Given the description of an element on the screen output the (x, y) to click on. 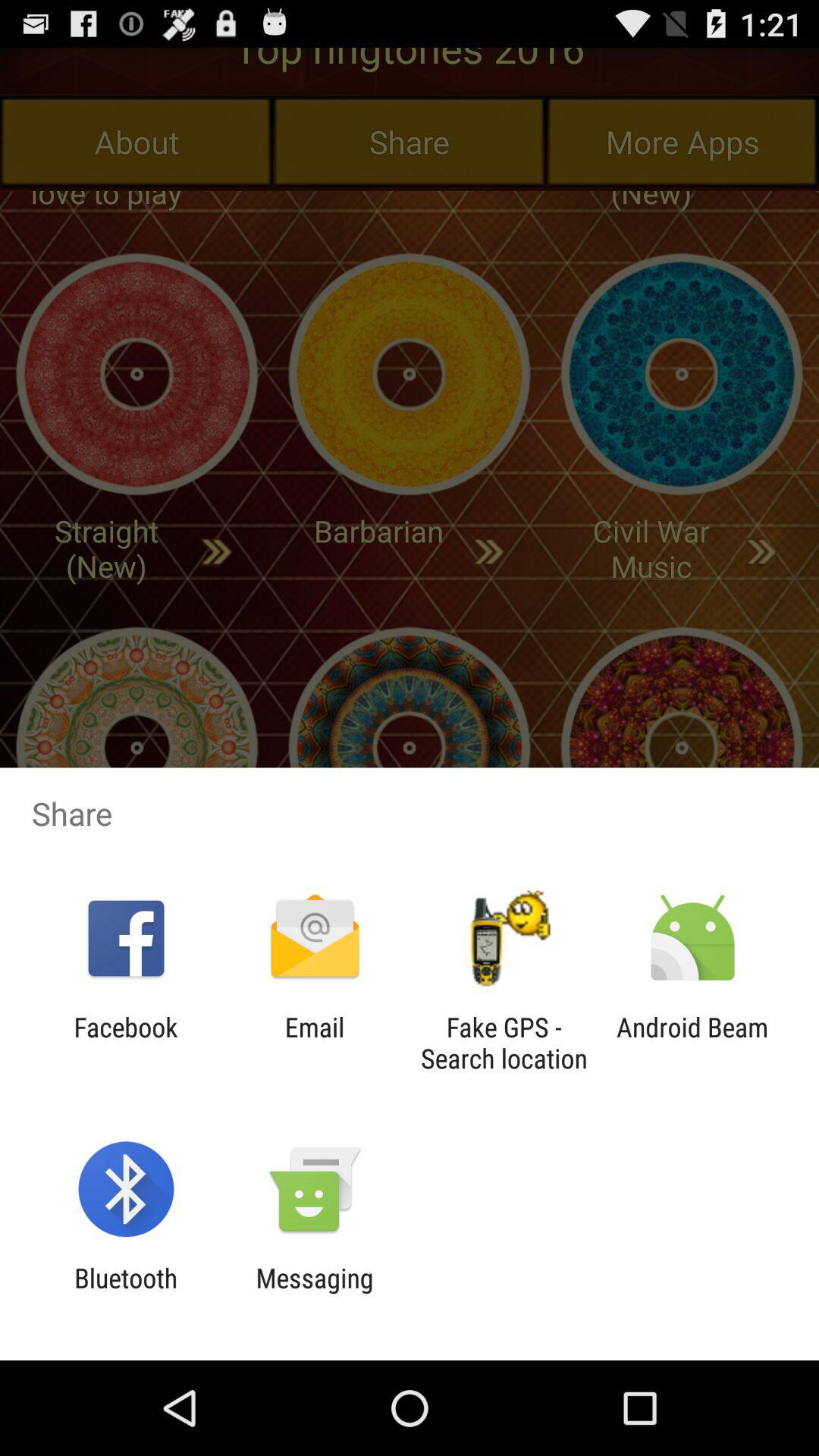
swipe until fake gps search item (503, 1042)
